Given the description of an element on the screen output the (x, y) to click on. 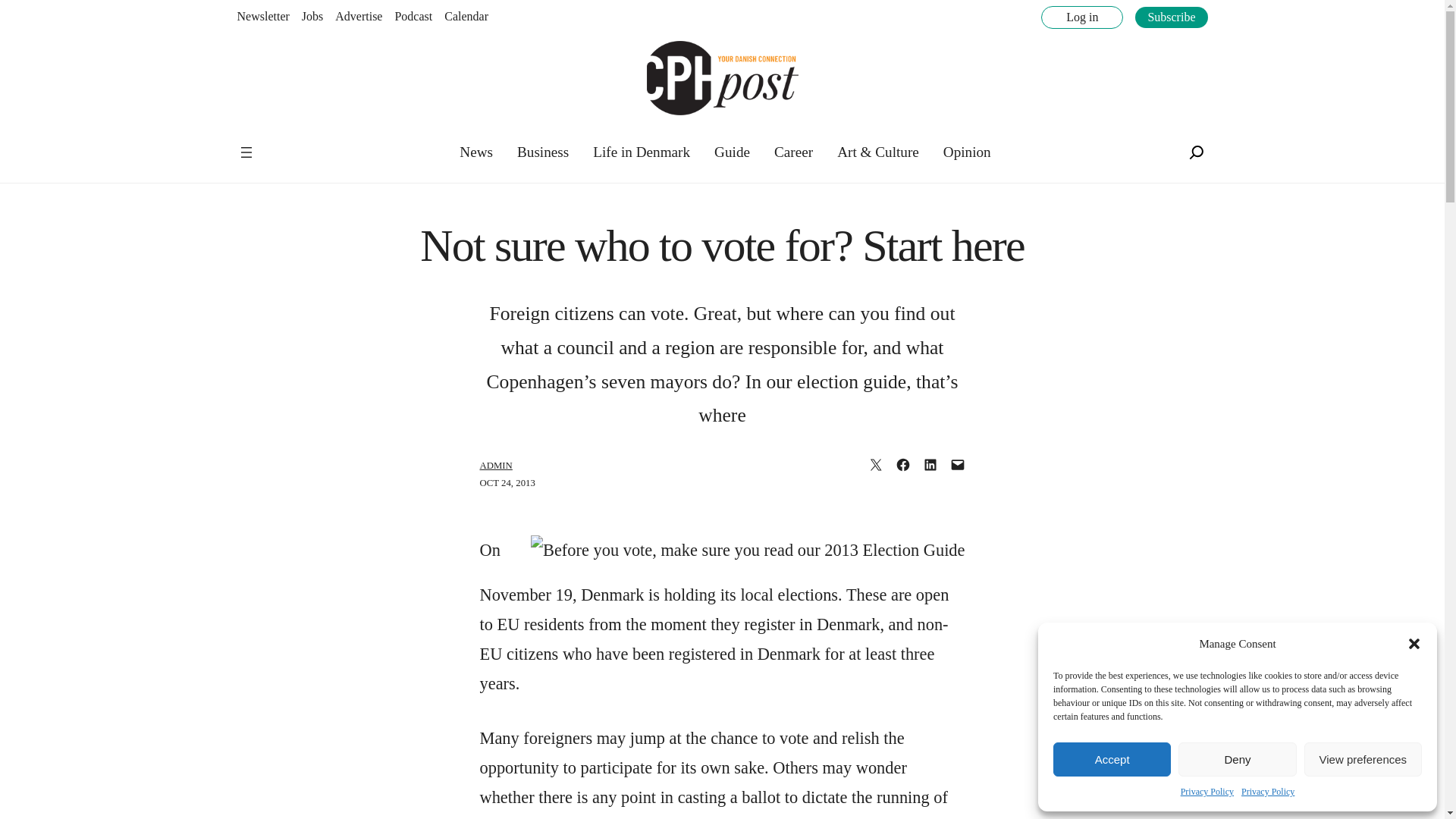
Before you vote, make sure you read our 2013 Election Guide (748, 550)
Accept (1111, 759)
Deny (1236, 759)
Privacy Policy (1267, 791)
Posts by admin (495, 465)
View preferences (1363, 759)
The Copenhagen Post (284, 143)
Privacy Policy (1206, 791)
